Given the description of an element on the screen output the (x, y) to click on. 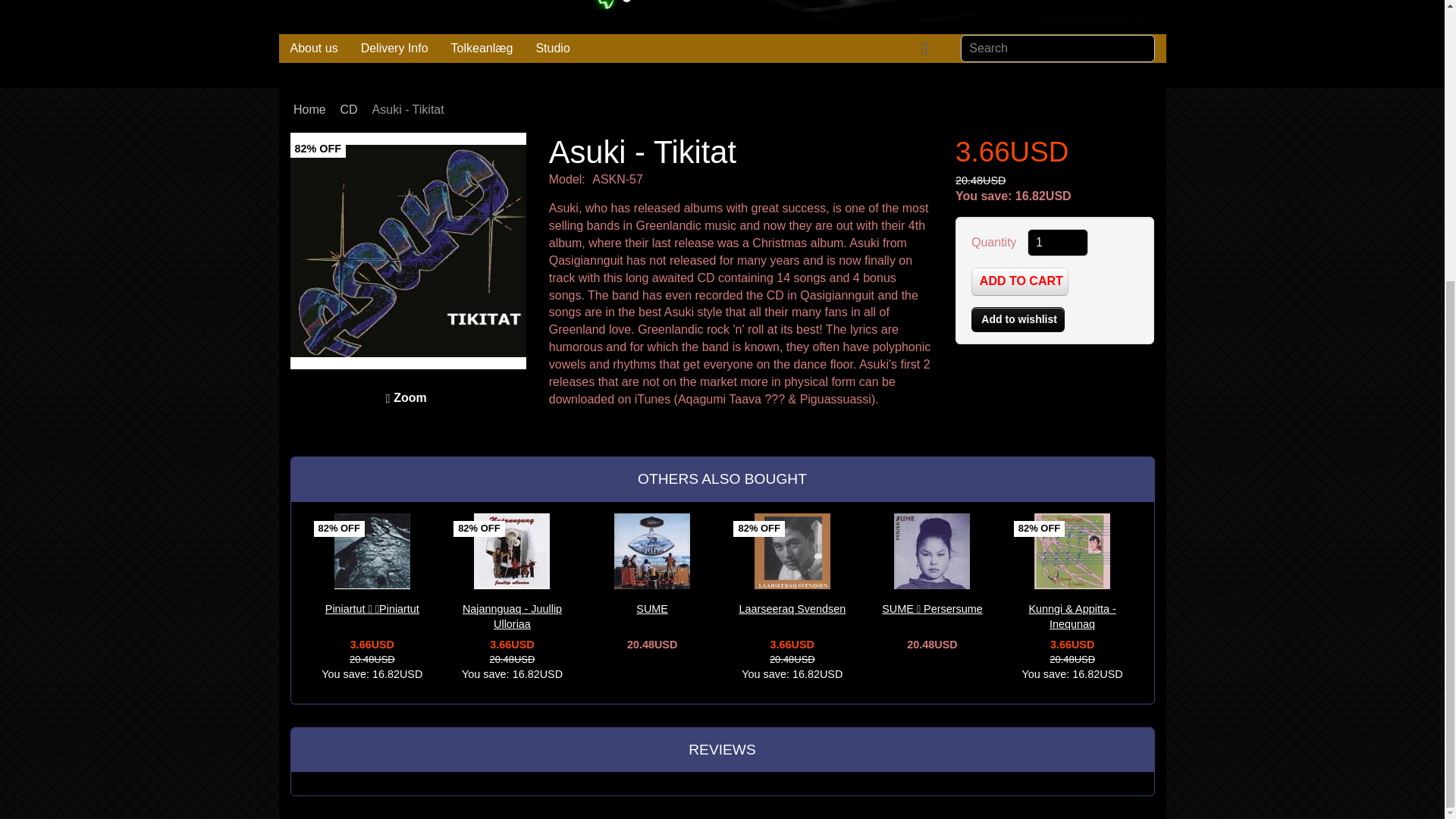
1 (1057, 242)
Asuki - Tikitat (407, 250)
